Given the description of an element on the screen output the (x, y) to click on. 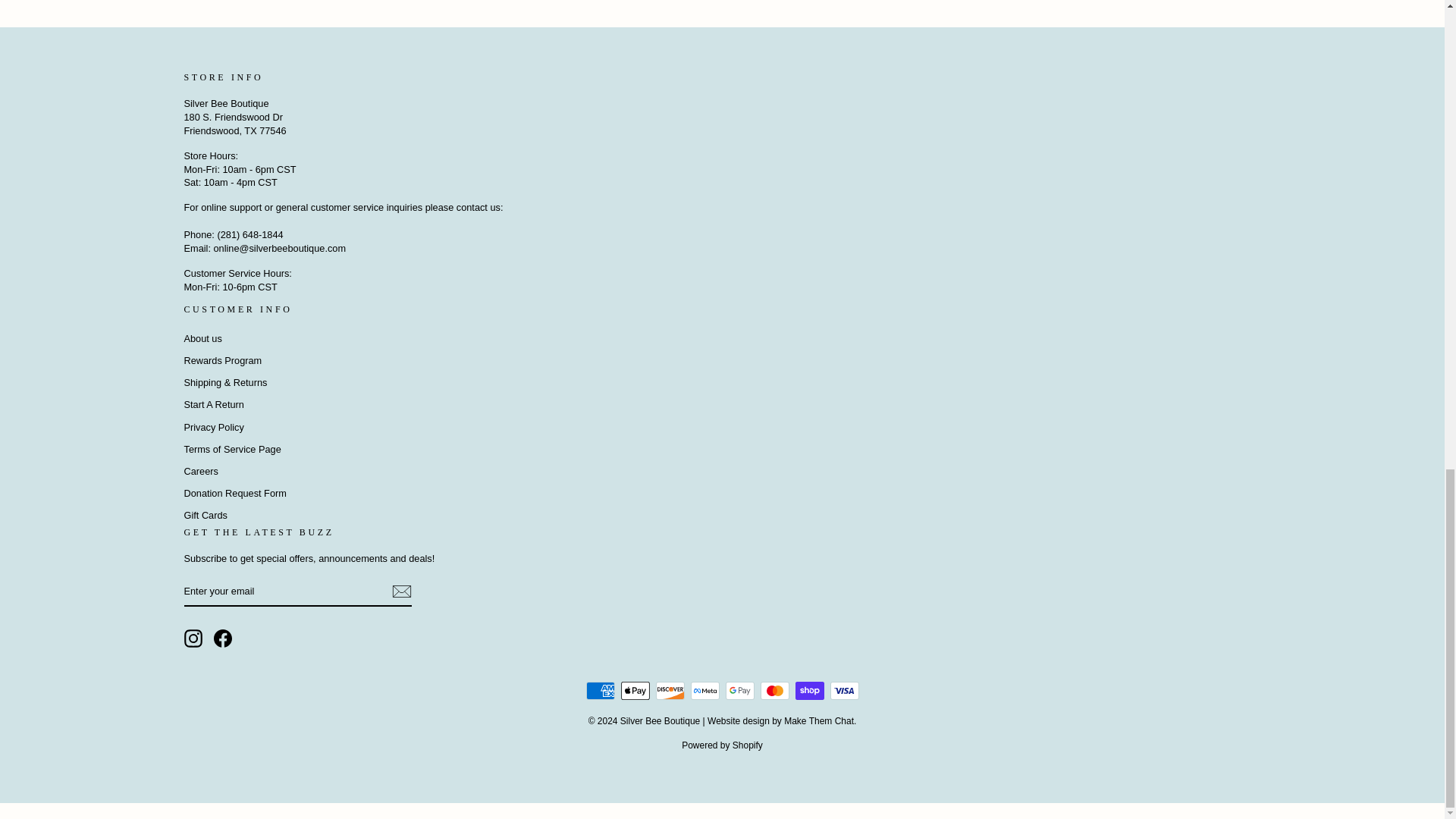
icon-email (400, 591)
Discover (669, 690)
instagram (192, 638)
American Express (599, 690)
Silver Bee Boutique on Facebook (222, 638)
Silver Bee Boutique on Instagram (192, 638)
Apple Pay (634, 690)
